Given the description of an element on the screen output the (x, y) to click on. 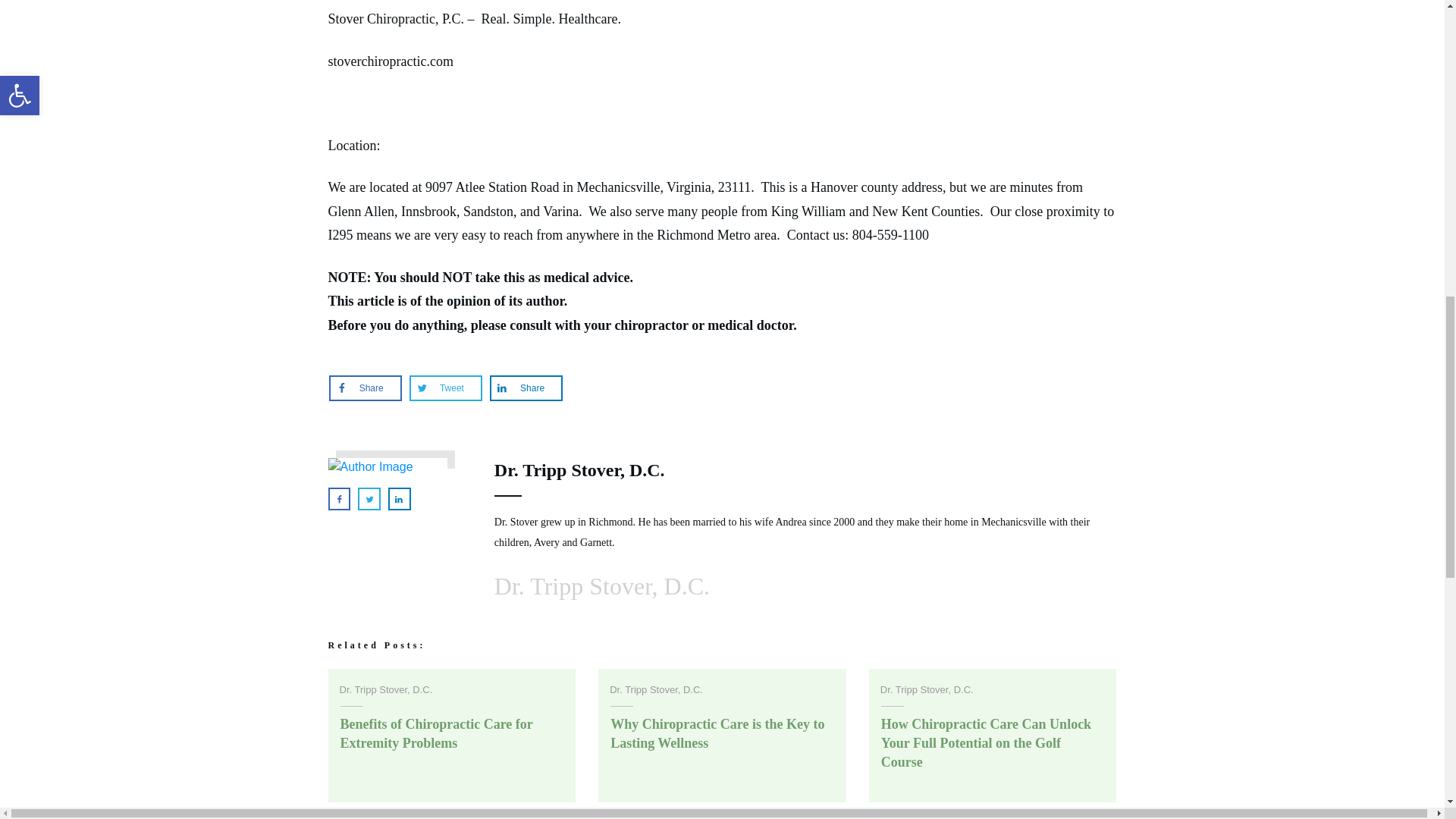
Why Chiropractic Care is the Key to Lasting Wellness (717, 733)
stoverchiropractic.com (389, 61)
Benefits of Chiropractic Care for Extremity Problems (435, 733)
Share (365, 387)
Share (526, 387)
Tweet (445, 387)
